Given the description of an element on the screen output the (x, y) to click on. 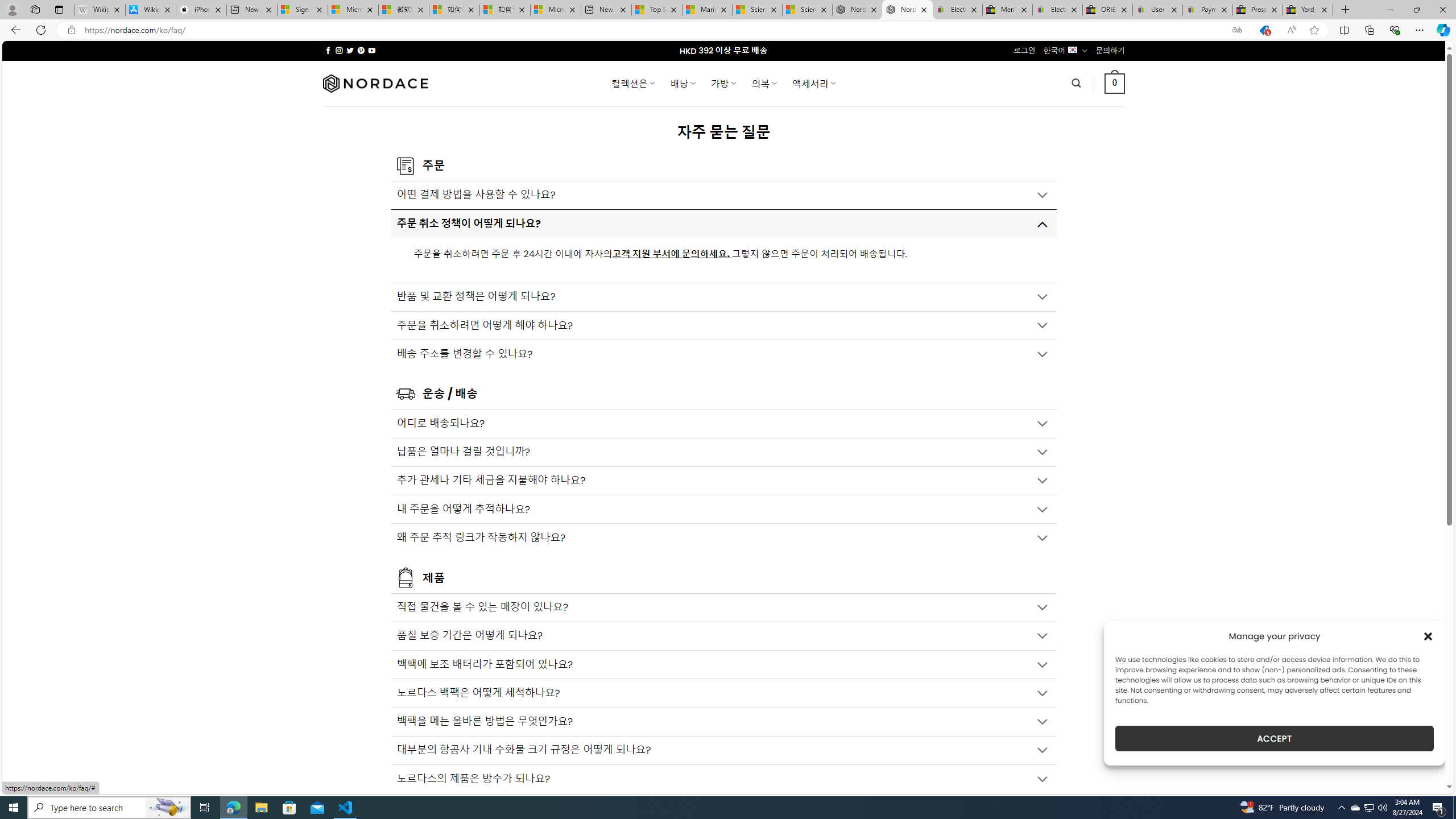
Nordace - FAQ (907, 9)
Follow on Pinterest (360, 50)
